Given the description of an element on the screen output the (x, y) to click on. 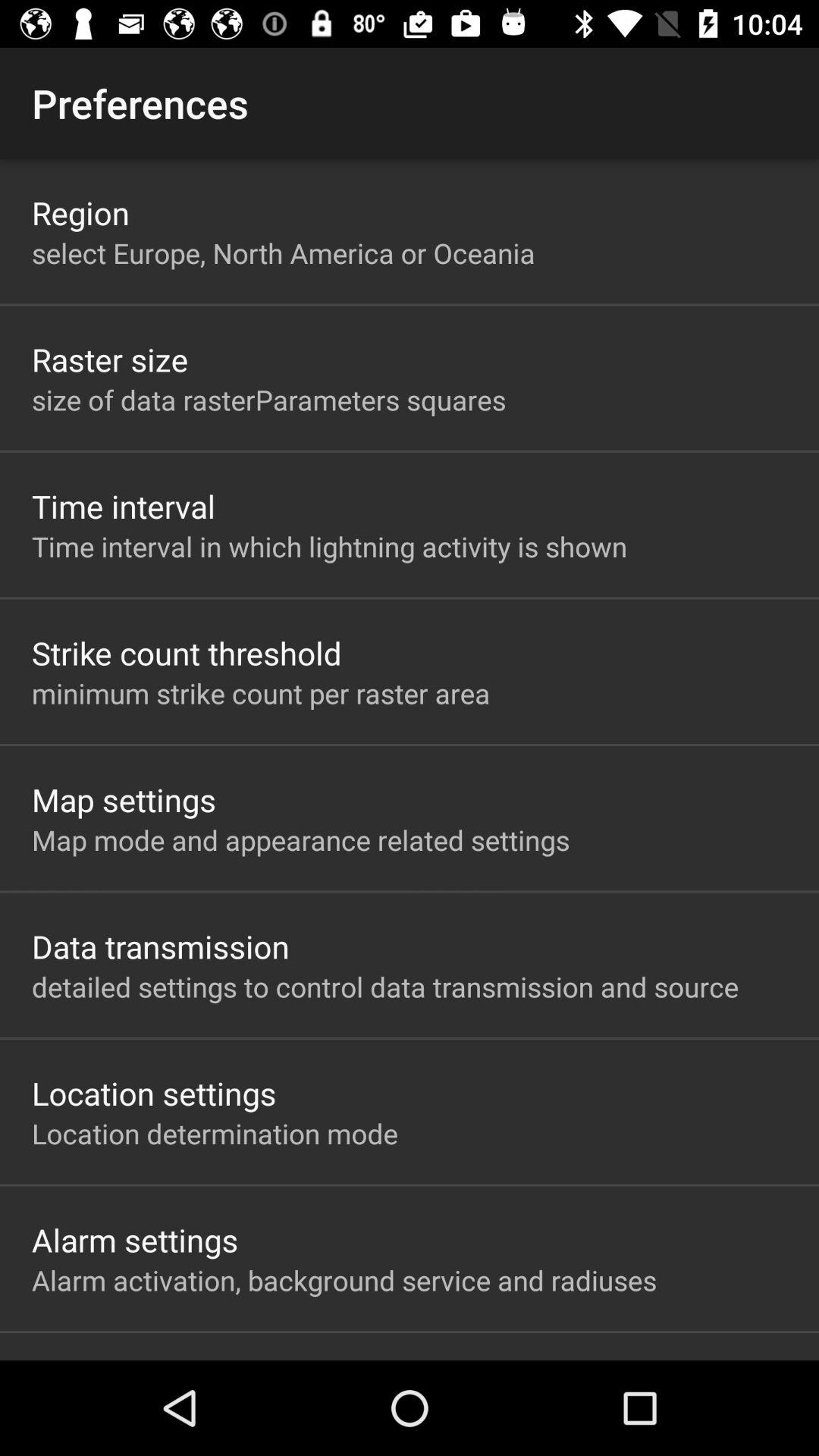
select the icon below the alarm settings (343, 1280)
